Given the description of an element on the screen output the (x, y) to click on. 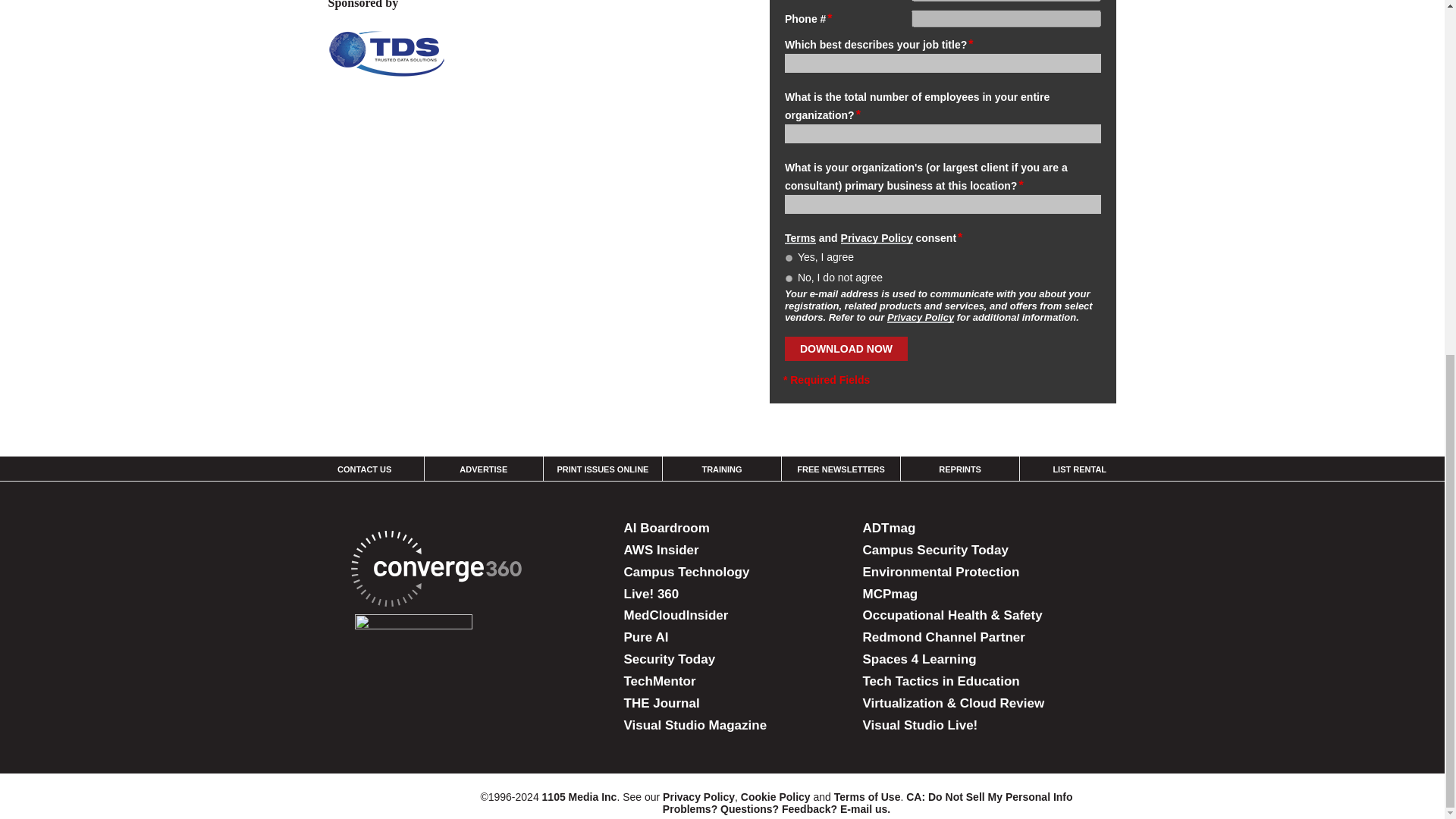
REPRINTS (960, 469)
ADTmag (889, 527)
LIST RENTAL (1079, 469)
AI Boardroom (666, 527)
Privacy Policy (919, 317)
TRAINING (721, 469)
ADVERTISE (483, 469)
Privacy Policy (876, 237)
CONTACT US (364, 469)
FREE NEWSLETTERS (840, 469)
